Given the description of an element on the screen output the (x, y) to click on. 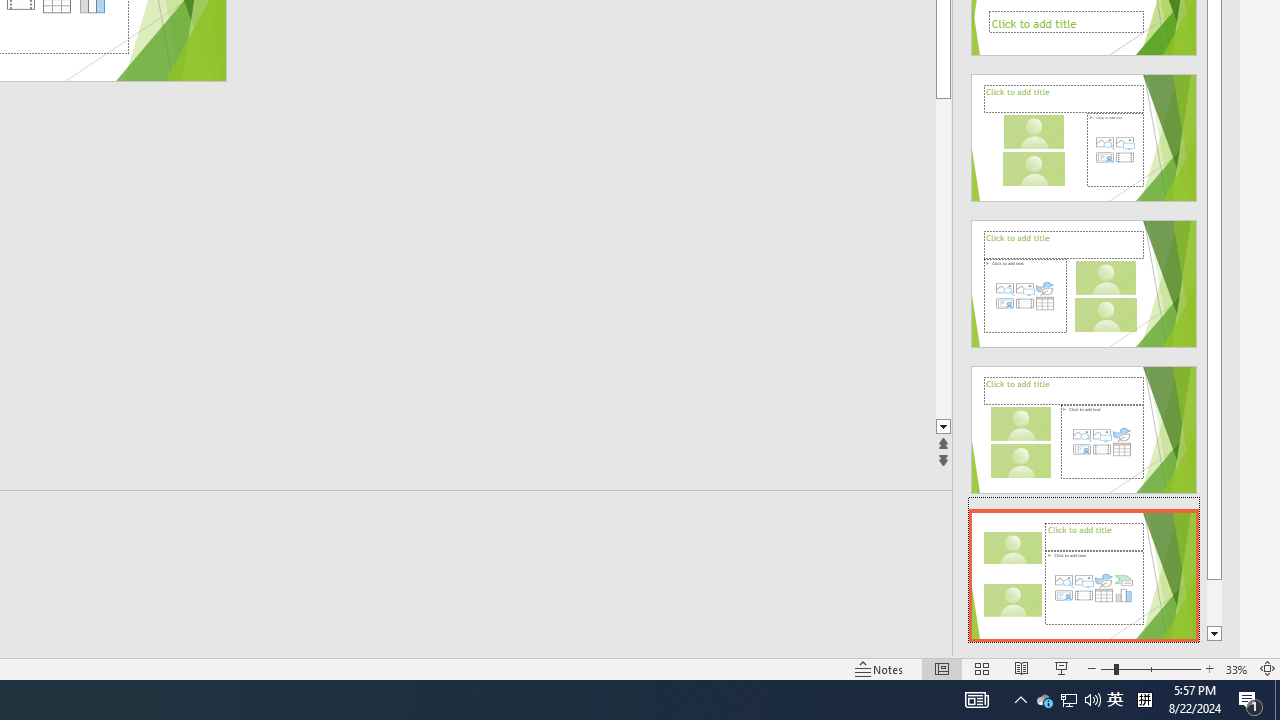
Zoom 33% (1236, 668)
